Given the description of an element on the screen output the (x, y) to click on. 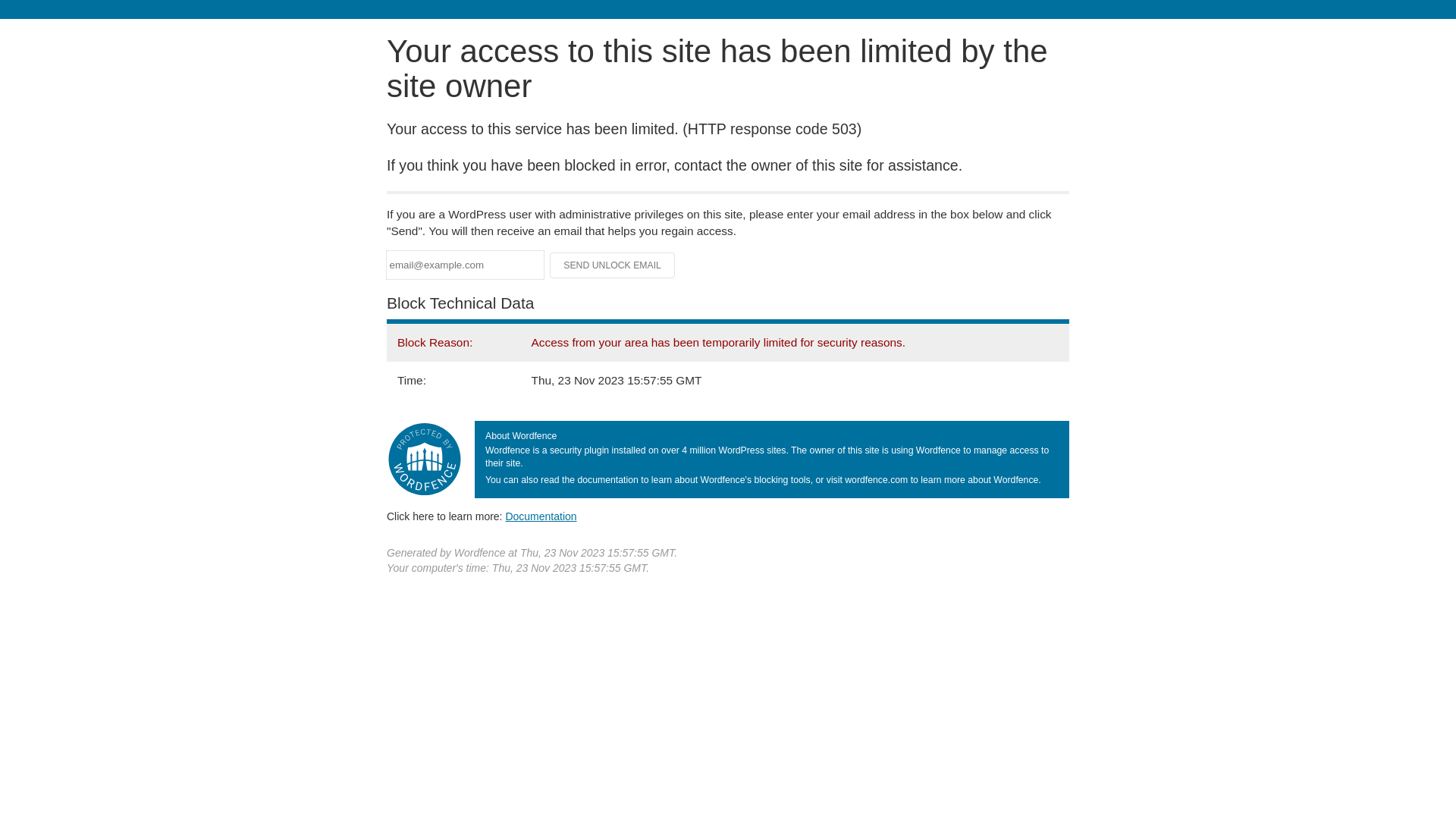
Send Unlock Email Element type: text (612, 265)
Documentation Element type: text (540, 516)
